Given the description of an element on the screen output the (x, y) to click on. 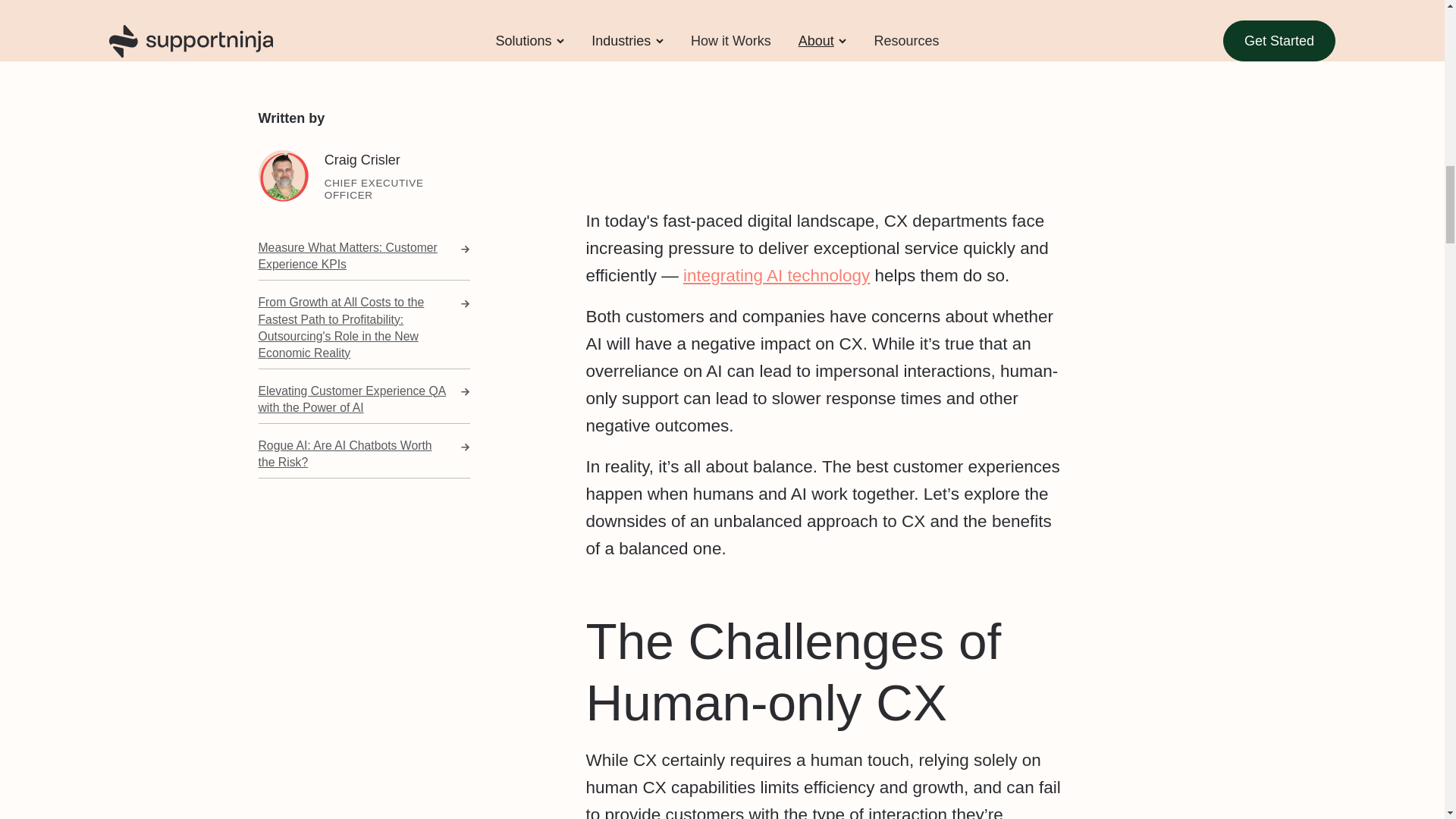
Measure What Matters: Customer Experience KPIs (362, 45)
Rogue AI: Are AI Chatbots Worth the Risk? (362, 242)
Elevating Customer Experience QA with the Power of AI (362, 188)
integrating AI technology (775, 275)
